Given the description of an element on the screen output the (x, y) to click on. 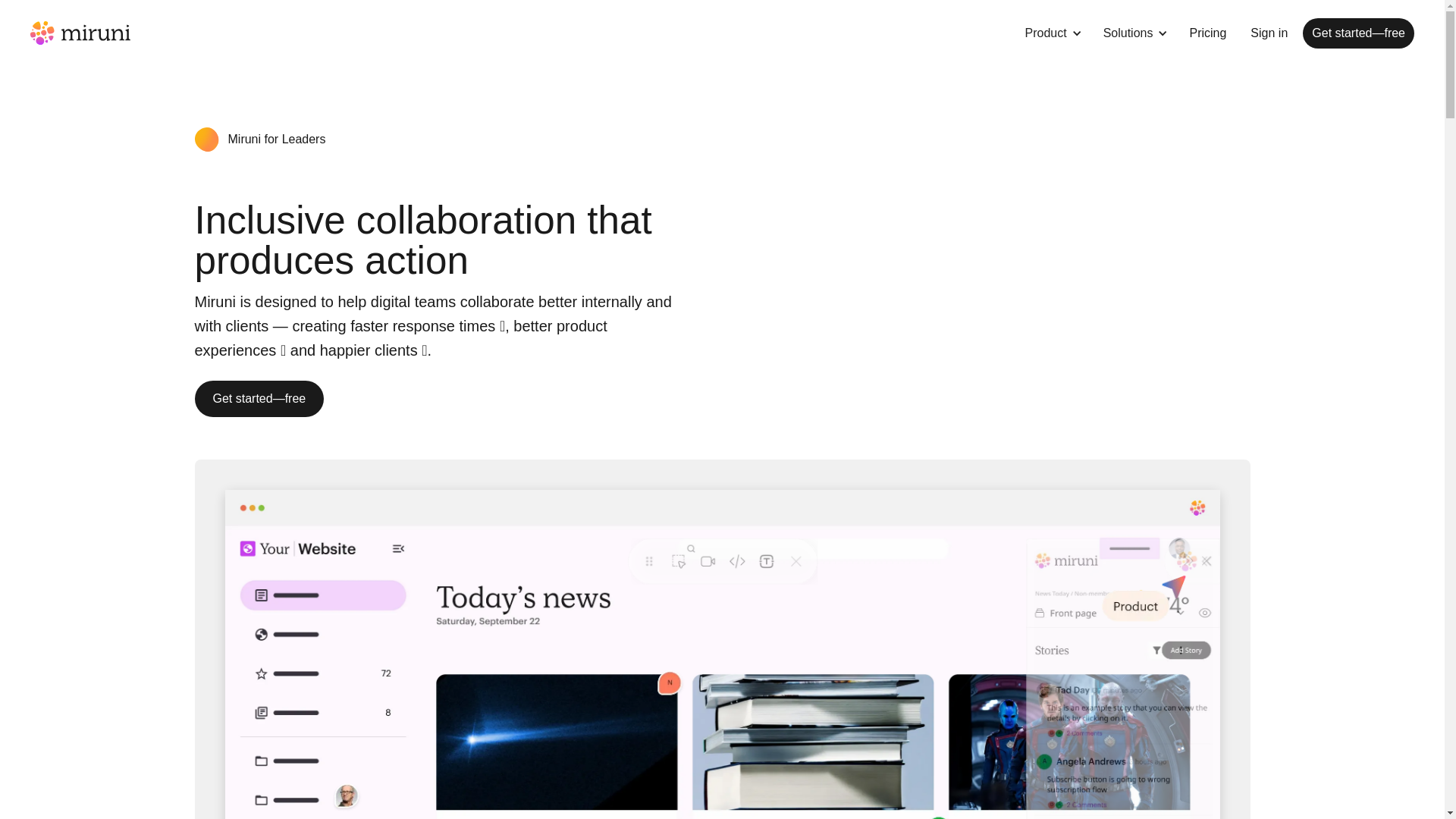
Sign in (1269, 32)
Pricing (1206, 32)
